Given the description of an element on the screen output the (x, y) to click on. 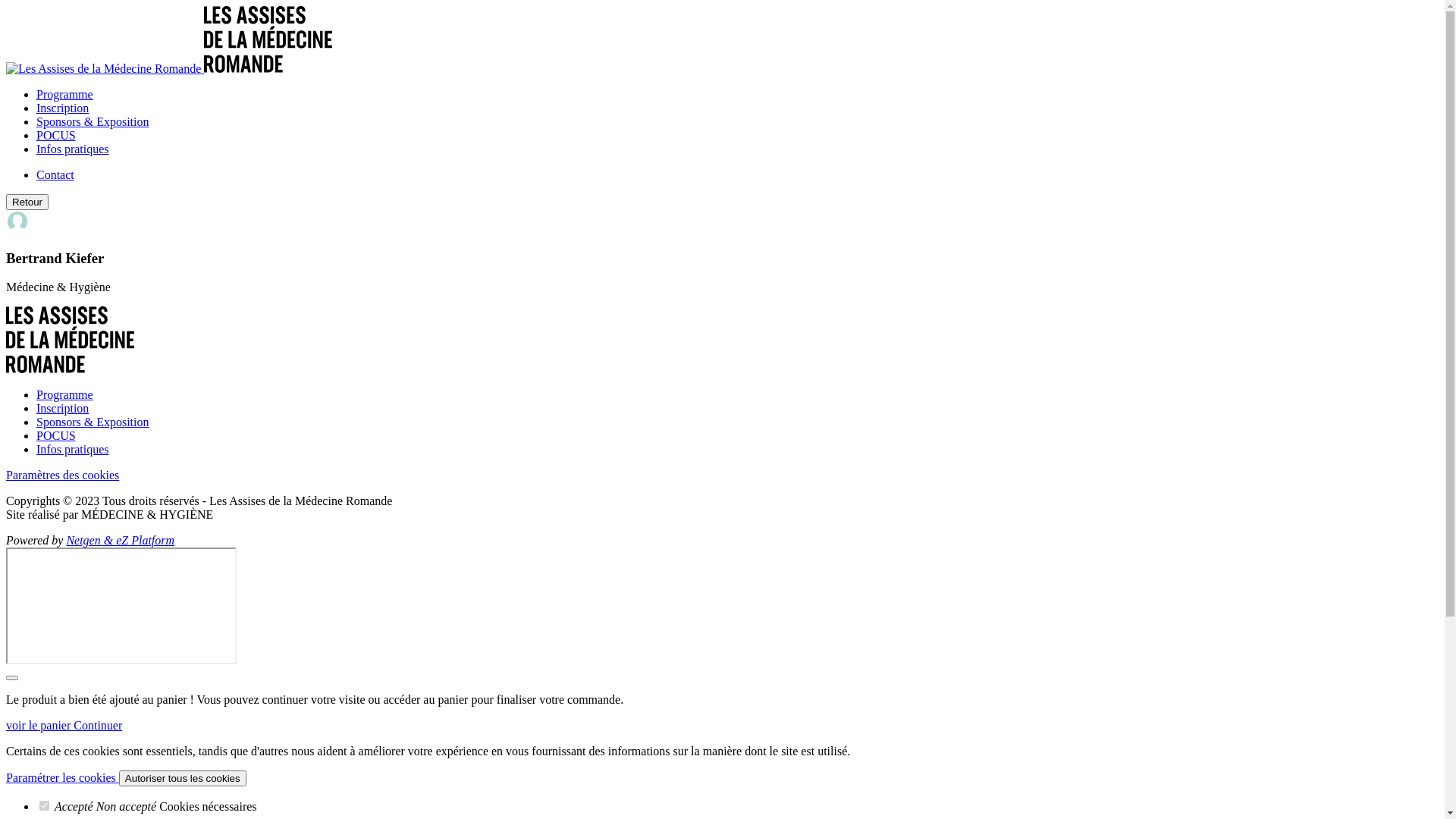
Retour Element type: text (27, 202)
Autoriser tous les cookies Element type: text (182, 778)
POCUS Element type: text (55, 435)
Sponsors & Exposition Element type: text (92, 121)
Contact Element type: text (55, 174)
Programme Element type: text (64, 93)
Continuer Element type: text (97, 724)
Infos pratiques Element type: text (72, 448)
Programme Element type: text (64, 394)
POCUS Element type: text (55, 134)
Inscription Element type: text (62, 107)
Inscription Element type: text (62, 407)
Infos pratiques Element type: text (72, 148)
Sponsors & Exposition Element type: text (92, 421)
Netgen & eZ Platform Element type: text (119, 539)
voir le panier Element type: text (39, 724)
